Given the description of an element on the screen output the (x, y) to click on. 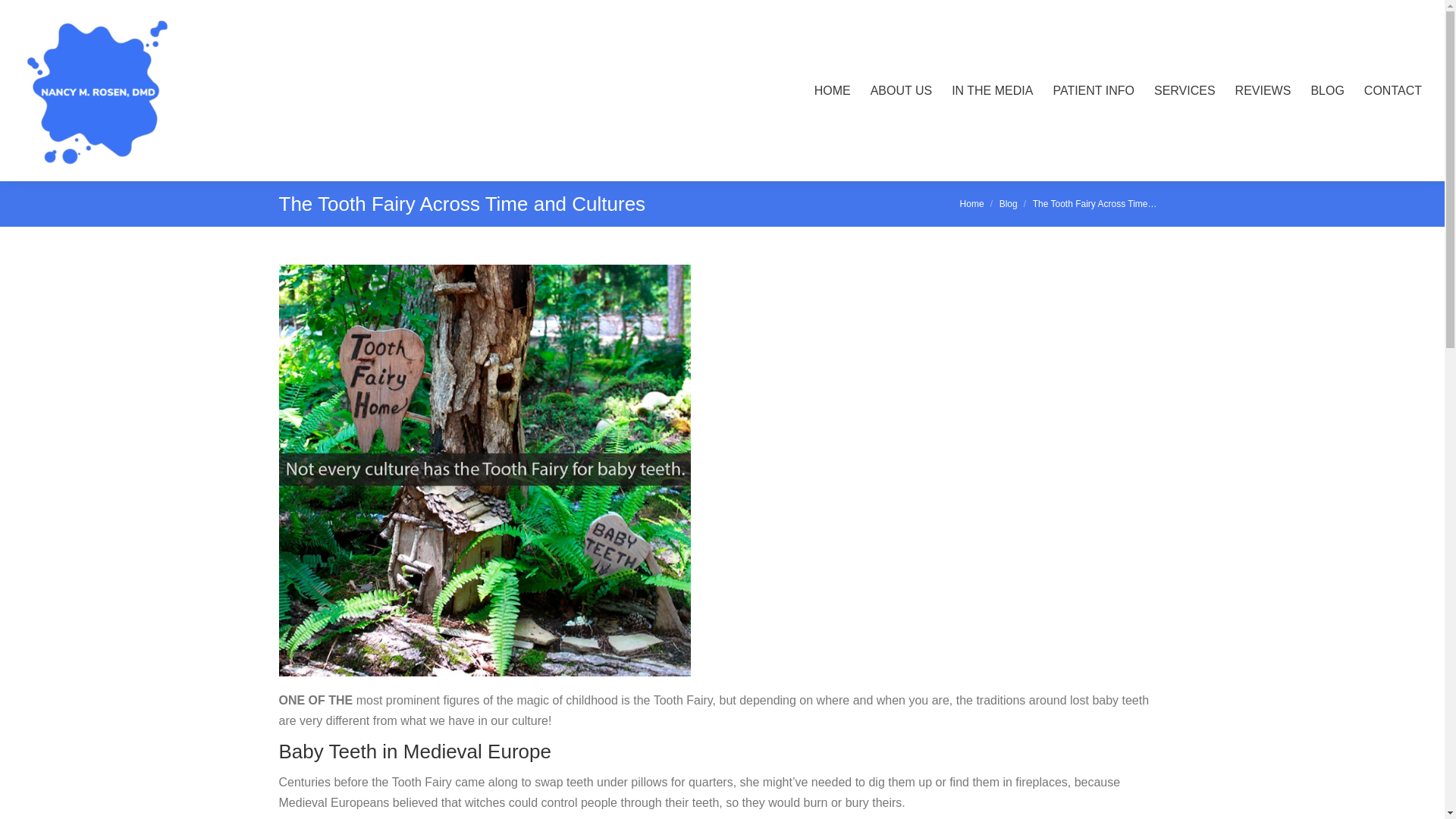
HOME (831, 90)
REVIEWS (1262, 90)
CONTACT (1393, 90)
SERVICES (1184, 90)
BLOG (1326, 90)
ABOUT US (901, 90)
PATIENT INFO (1093, 90)
IN THE MEDIA (992, 90)
